Given the description of an element on the screen output the (x, y) to click on. 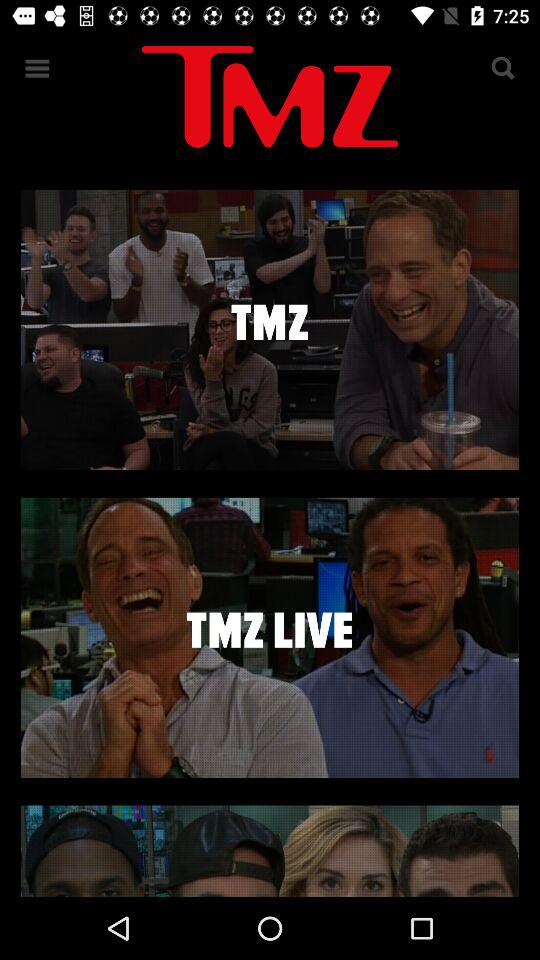
side menu (37, 68)
